Given the description of an element on the screen output the (x, y) to click on. 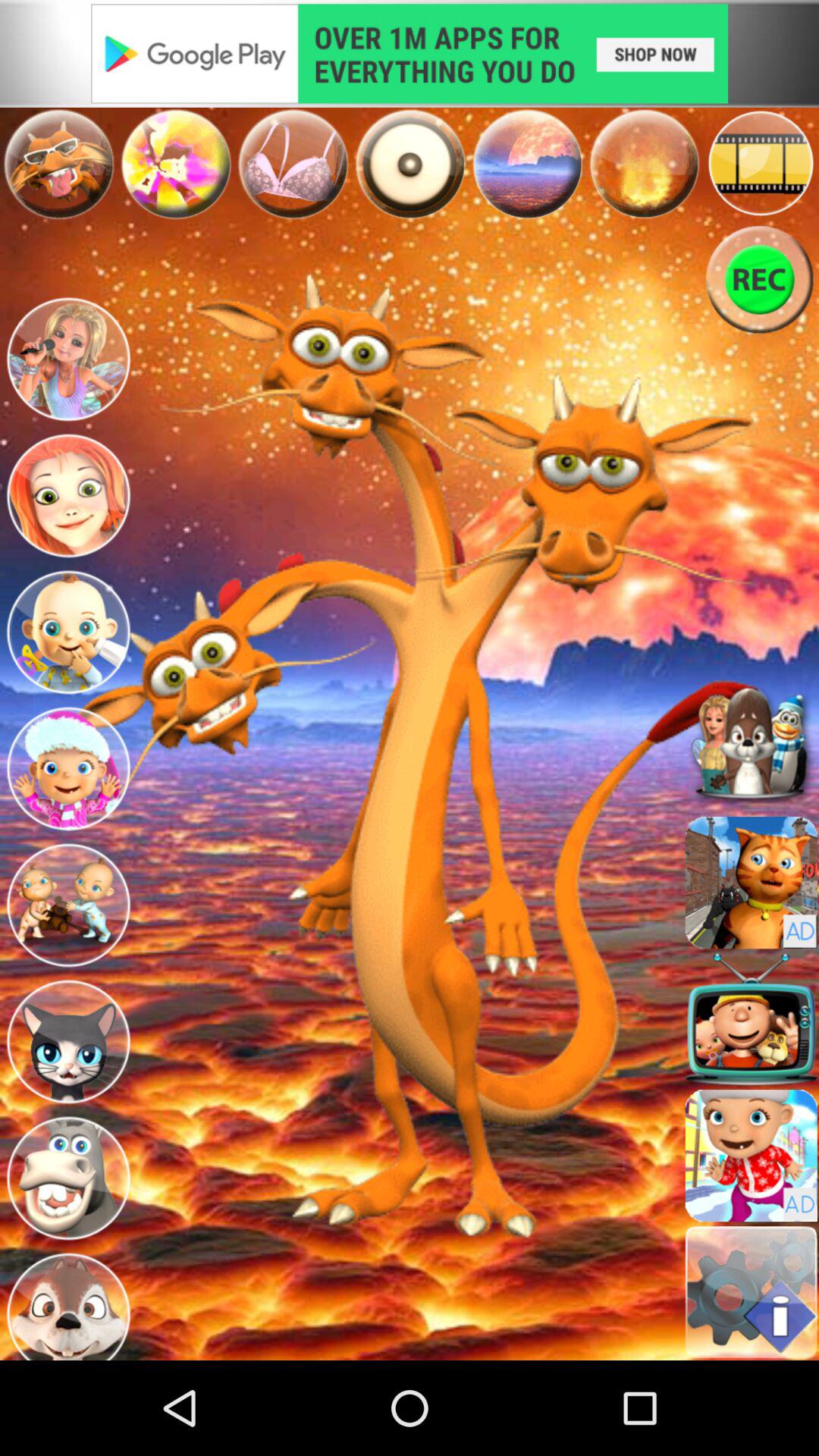
advertisements (409, 53)
